Given the description of an element on the screen output the (x, y) to click on. 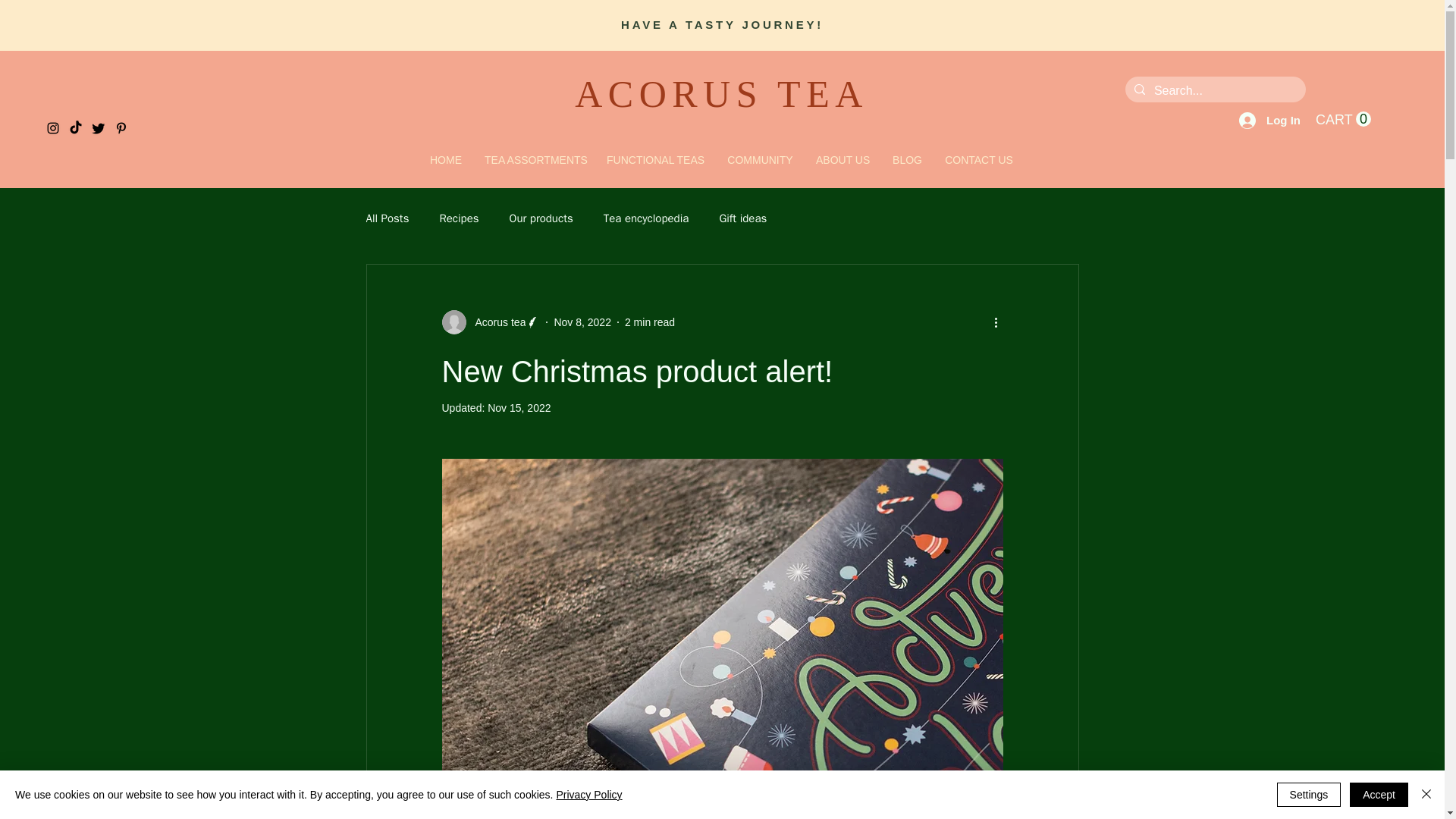
HOME (446, 160)
TEA ASSORTMENTS (534, 160)
ACORUS TEA (721, 93)
Our products (541, 217)
Log In (1269, 120)
All Posts (387, 217)
Gift ideas (743, 217)
2 min read (649, 321)
FUNCTIONAL TEAS (655, 160)
Tea encyclopedia (646, 217)
COMMUNITY (760, 160)
Nov 15, 2022 (518, 408)
Nov 8, 2022 (582, 321)
BLOG (906, 160)
